Given the description of an element on the screen output the (x, y) to click on. 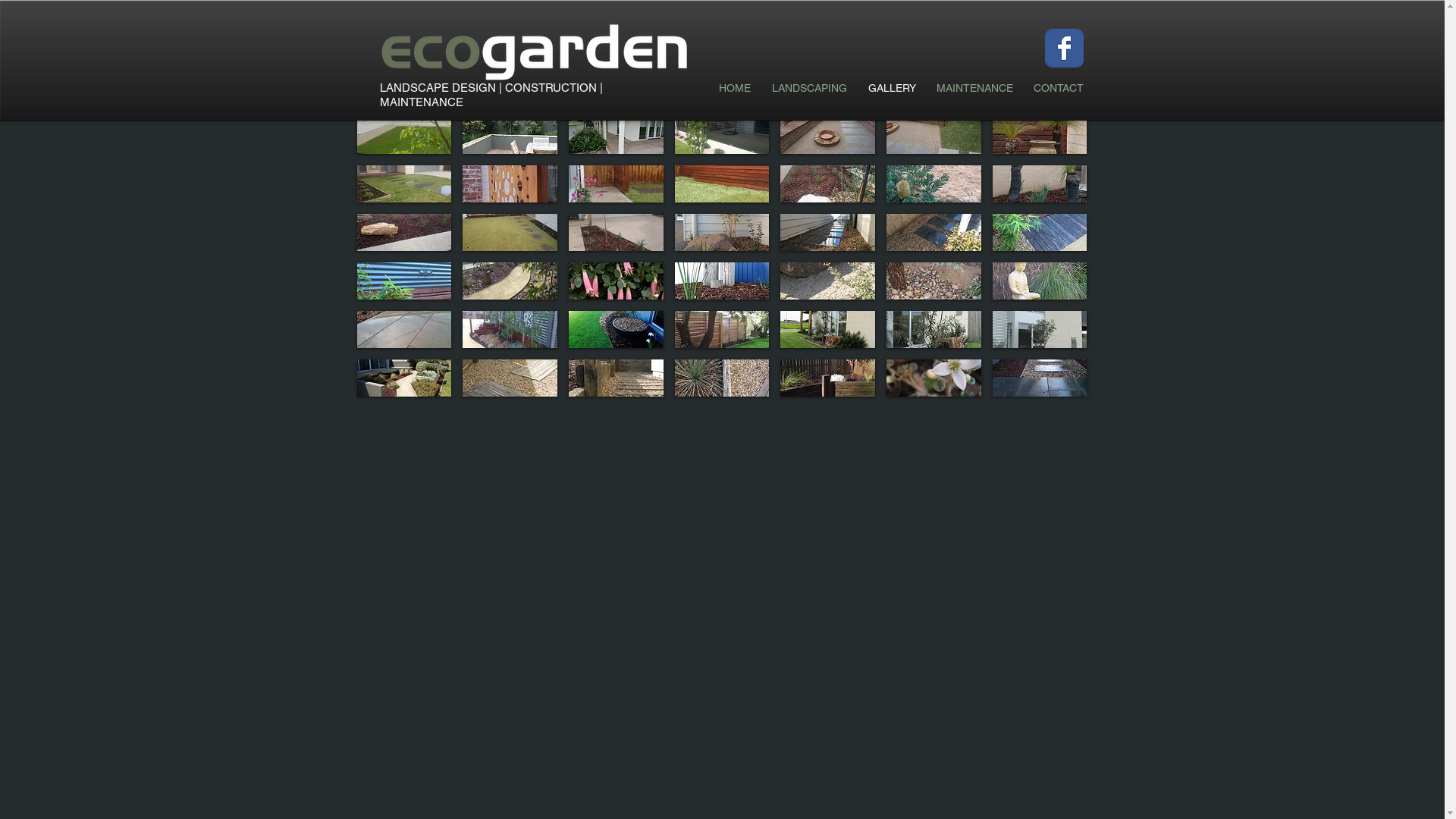
MAINTENANCE Element type: text (974, 87)
LANDSCAPING Element type: text (809, 87)
CONTACT Element type: text (1058, 87)
HOME Element type: text (734, 87)
GALLERY Element type: text (890, 87)
